Given the description of an element on the screen output the (x, y) to click on. 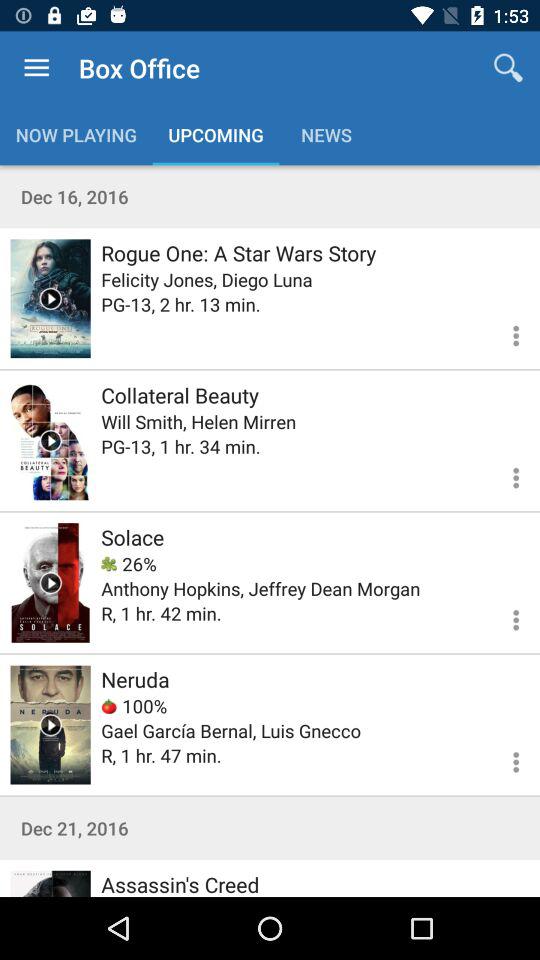
film preview (50, 724)
